Given the description of an element on the screen output the (x, y) to click on. 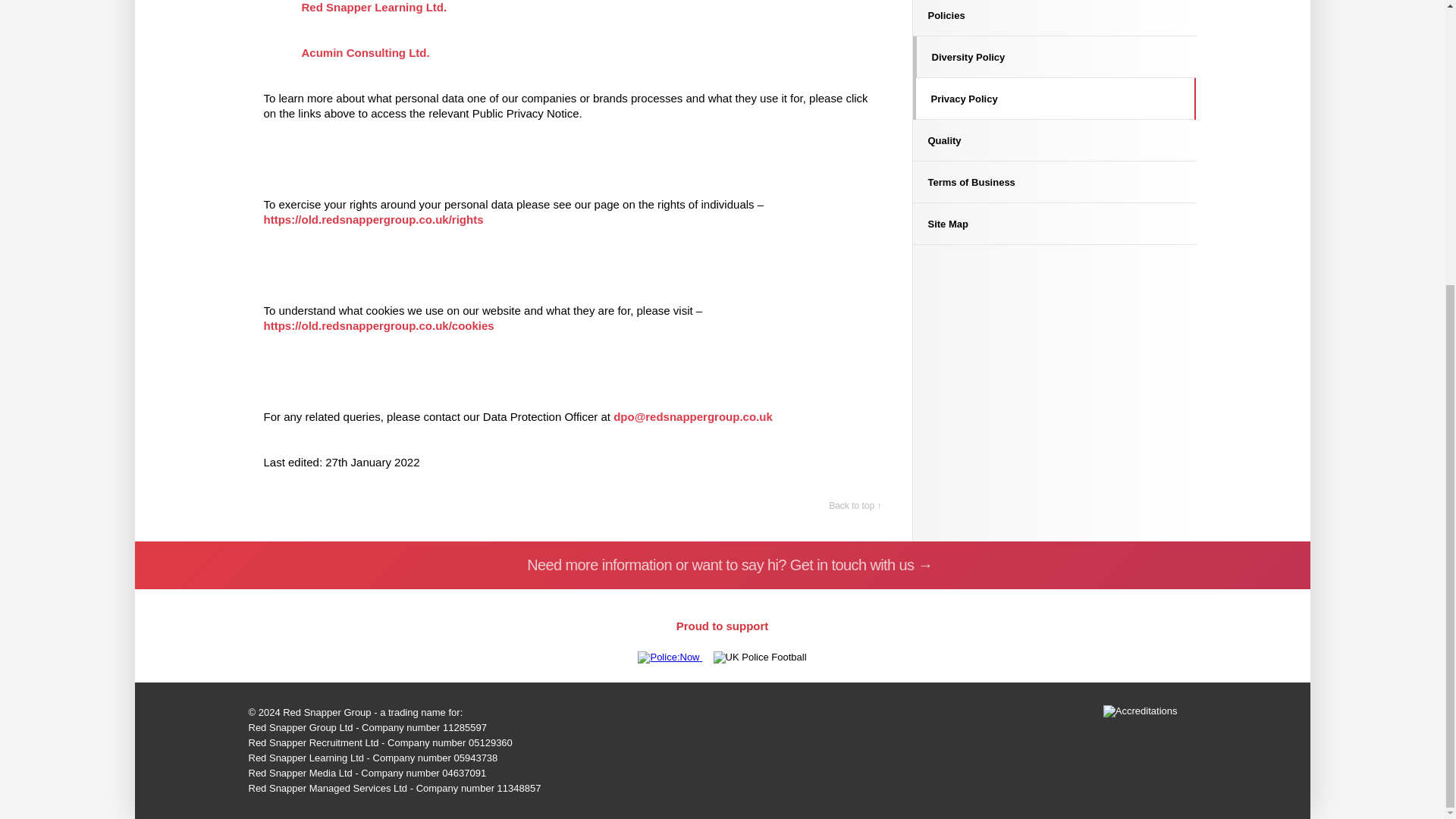
Acumin Consulting Ltd. (365, 51)
Red Snapper Learning Ltd. (373, 6)
